Given the description of an element on the screen output the (x, y) to click on. 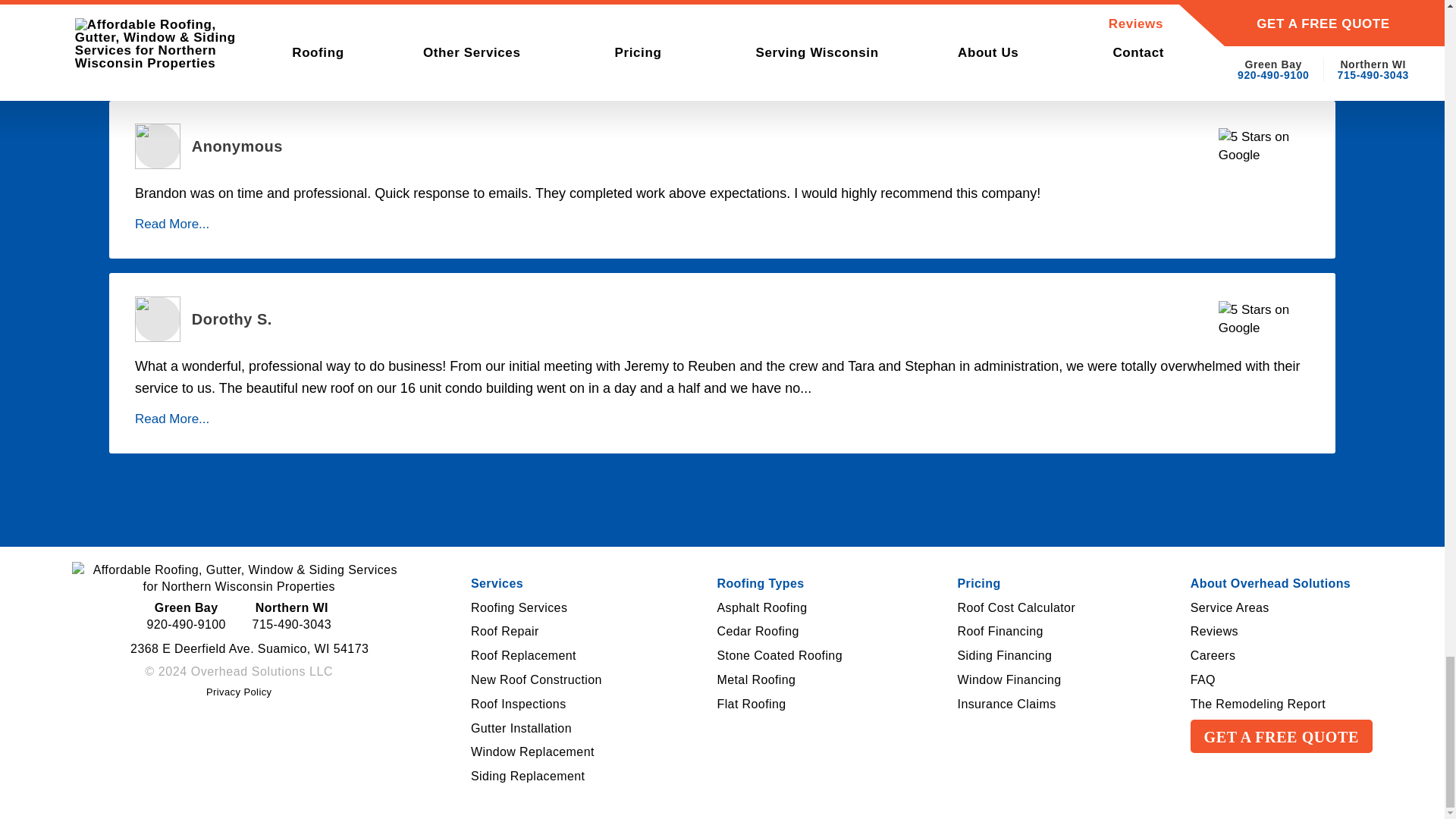
2368 E Deerfield Ave. Suamico, WI 54173 (238, 649)
Read More... (172, 51)
Roofing Services (291, 617)
Services (518, 607)
Privacy Policy (496, 583)
Read More... (239, 692)
Read More... (172, 224)
